Given the description of an element on the screen output the (x, y) to click on. 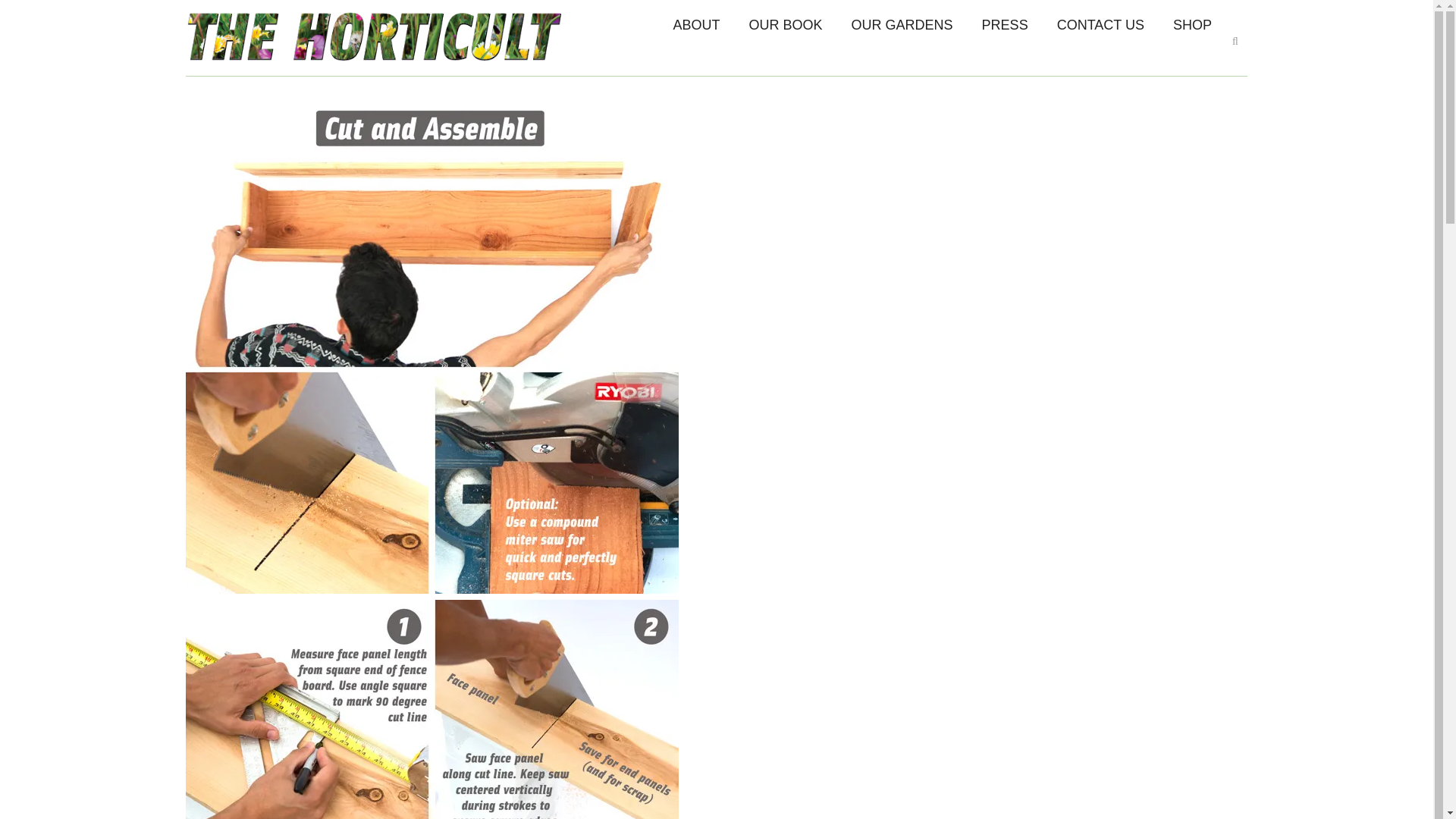
OUR BOOK (786, 25)
OUR GARDENS (902, 25)
PRESS (1005, 25)
ABOUT (697, 25)
SHOP (1191, 25)
CONTACT US (1100, 25)
